Given the description of an element on the screen output the (x, y) to click on. 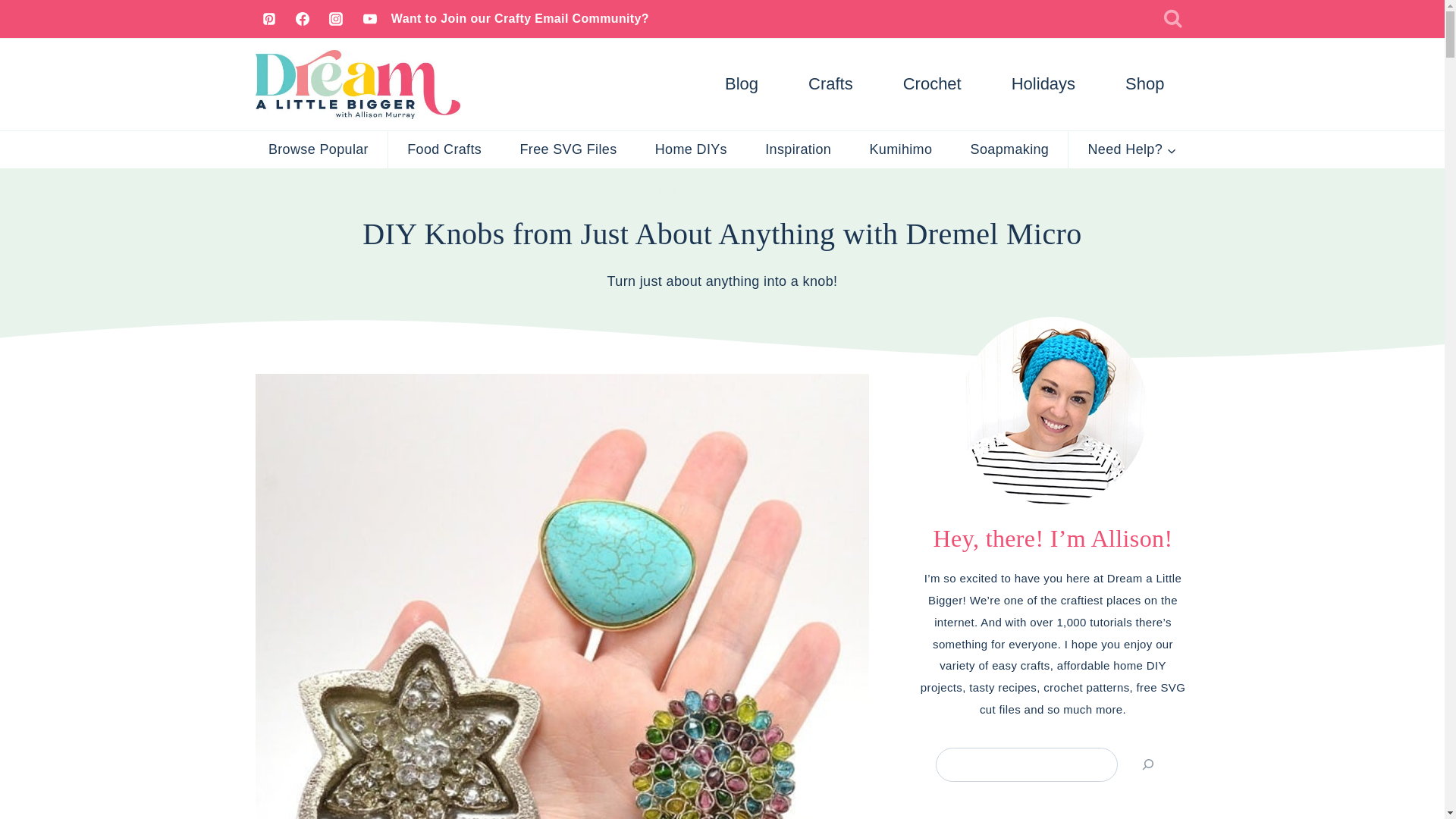
Blog (741, 84)
Kumihimo (900, 149)
Inspiration (797, 149)
Home DIYs (690, 149)
Crafts (830, 84)
Home DIY (616, 190)
Food Crafts (444, 149)
Want to Join our Crafty Email Community? (520, 18)
Free SVG Files (567, 149)
Holidays (1043, 84)
